Given the description of an element on the screen output the (x, y) to click on. 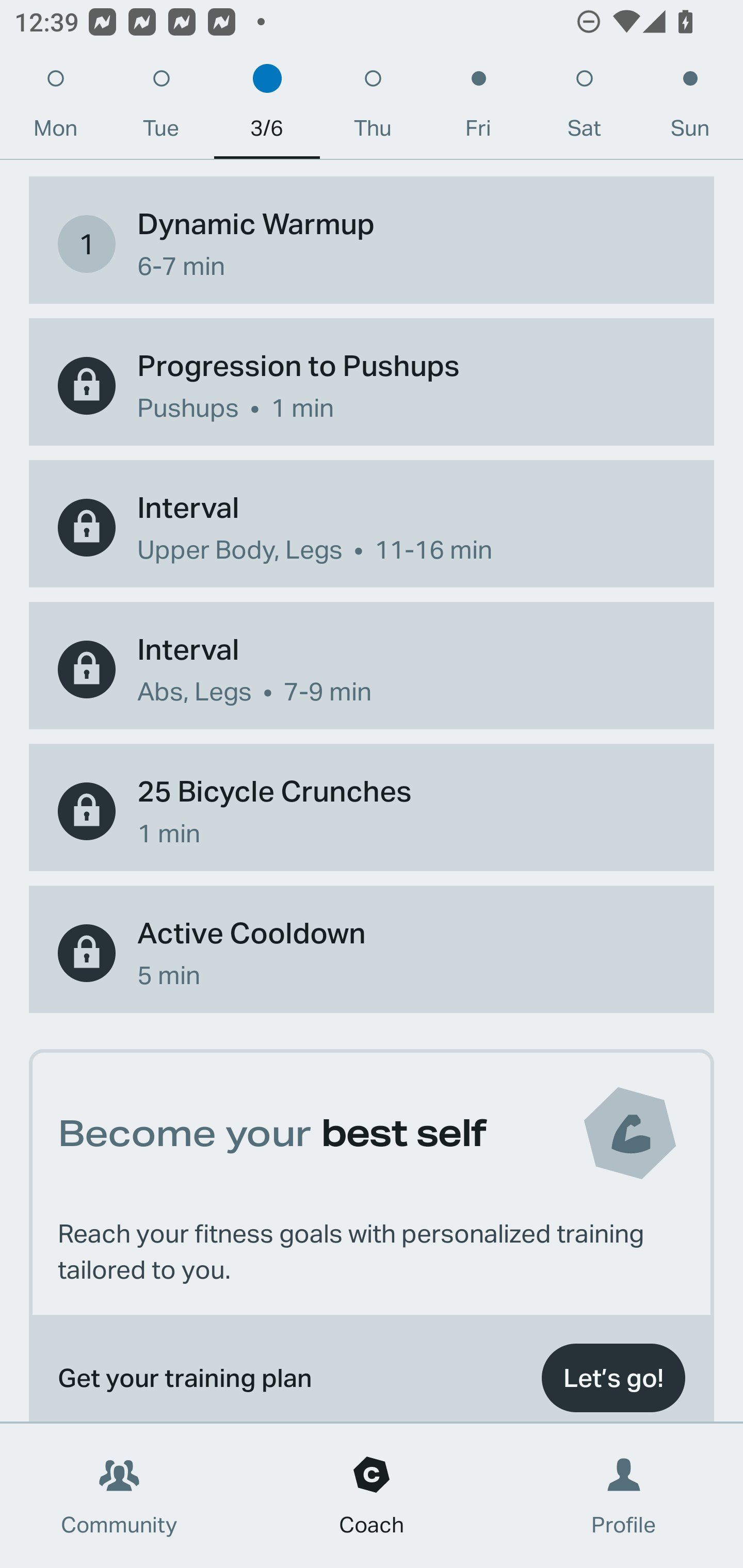
Mon (55, 108)
Tue (160, 108)
3/6 (266, 108)
Thu (372, 108)
Fri (478, 108)
Sat (584, 108)
Sun (690, 108)
1 Dynamic Warmup 6-7 min (371, 243)
Progression to Pushups Pushups  •  1 min (371, 385)
Interval Upper Body, Legs  •  11-16 min (371, 527)
Interval Abs, Legs  •  7-9 min (371, 669)
25 Bicycle Crunches 1 min (371, 811)
Active Cooldown 5 min (371, 953)
Let’s go! (613, 1378)
Community (119, 1495)
Profile (624, 1495)
